Given the description of an element on the screen output the (x, y) to click on. 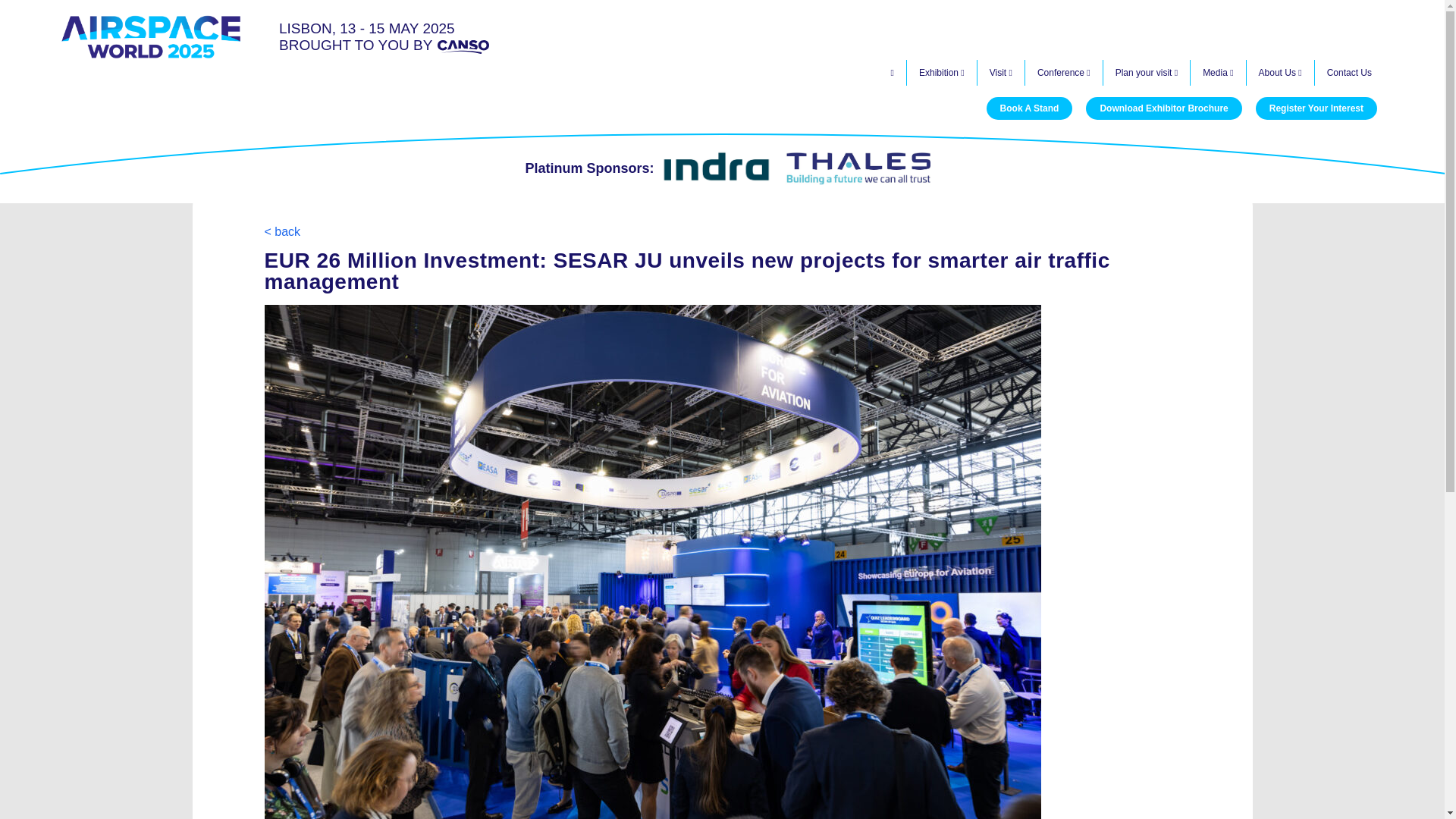
Register Your Interest (1316, 108)
Media (1218, 72)
Download Exhibitor Brochure (1163, 108)
Contact Us (1349, 72)
Plan your visit (1147, 72)
Conference (1064, 72)
Visit (1000, 72)
About Us (1280, 72)
Exhibition (941, 72)
Book A Stand (1030, 108)
